Given the description of an element on the screen output the (x, y) to click on. 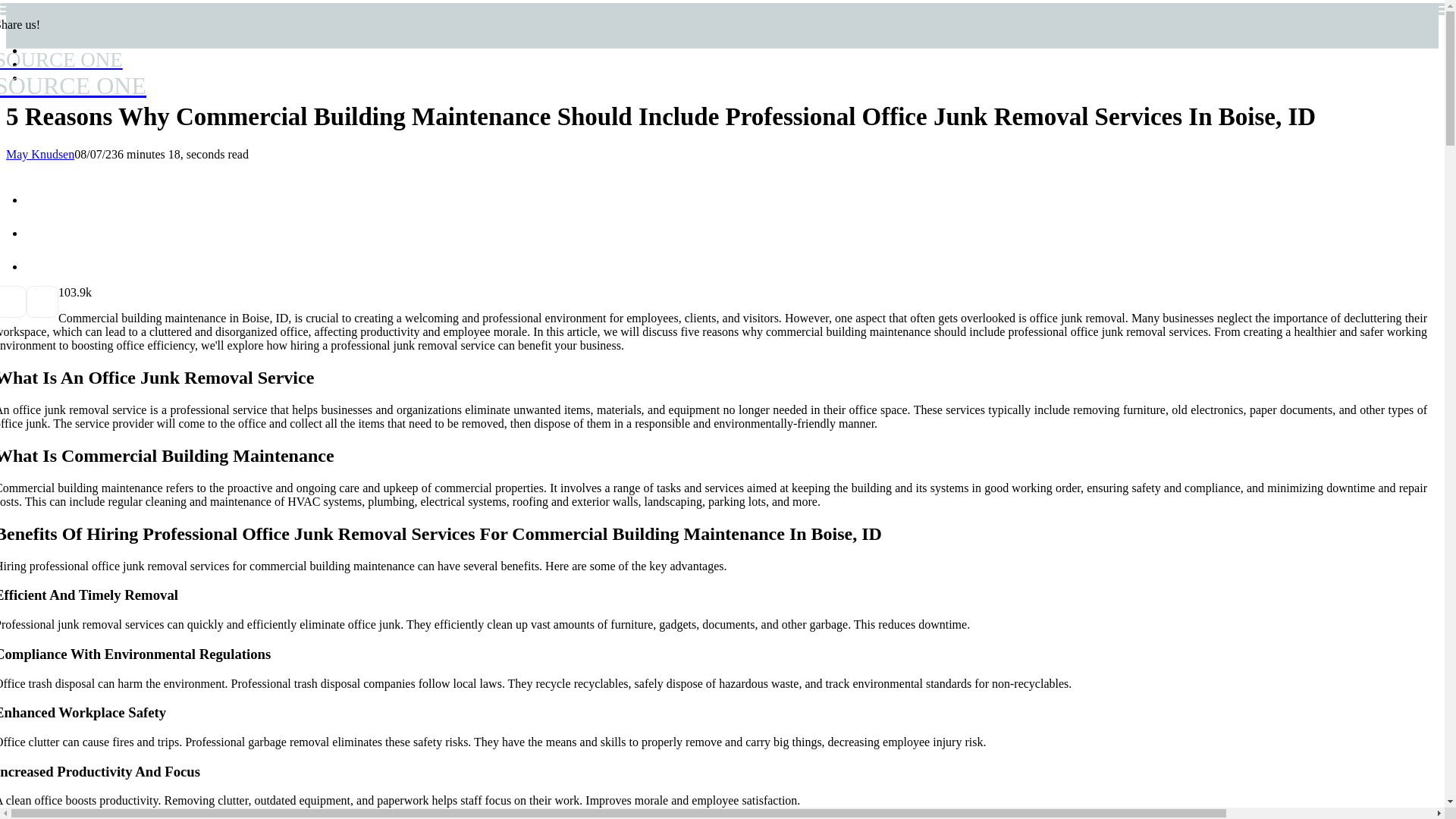
Like (63, 291)
Posts by May Knudsen (39, 154)
10 (73, 73)
May Knudsen (63, 291)
